Given the description of an element on the screen output the (x, y) to click on. 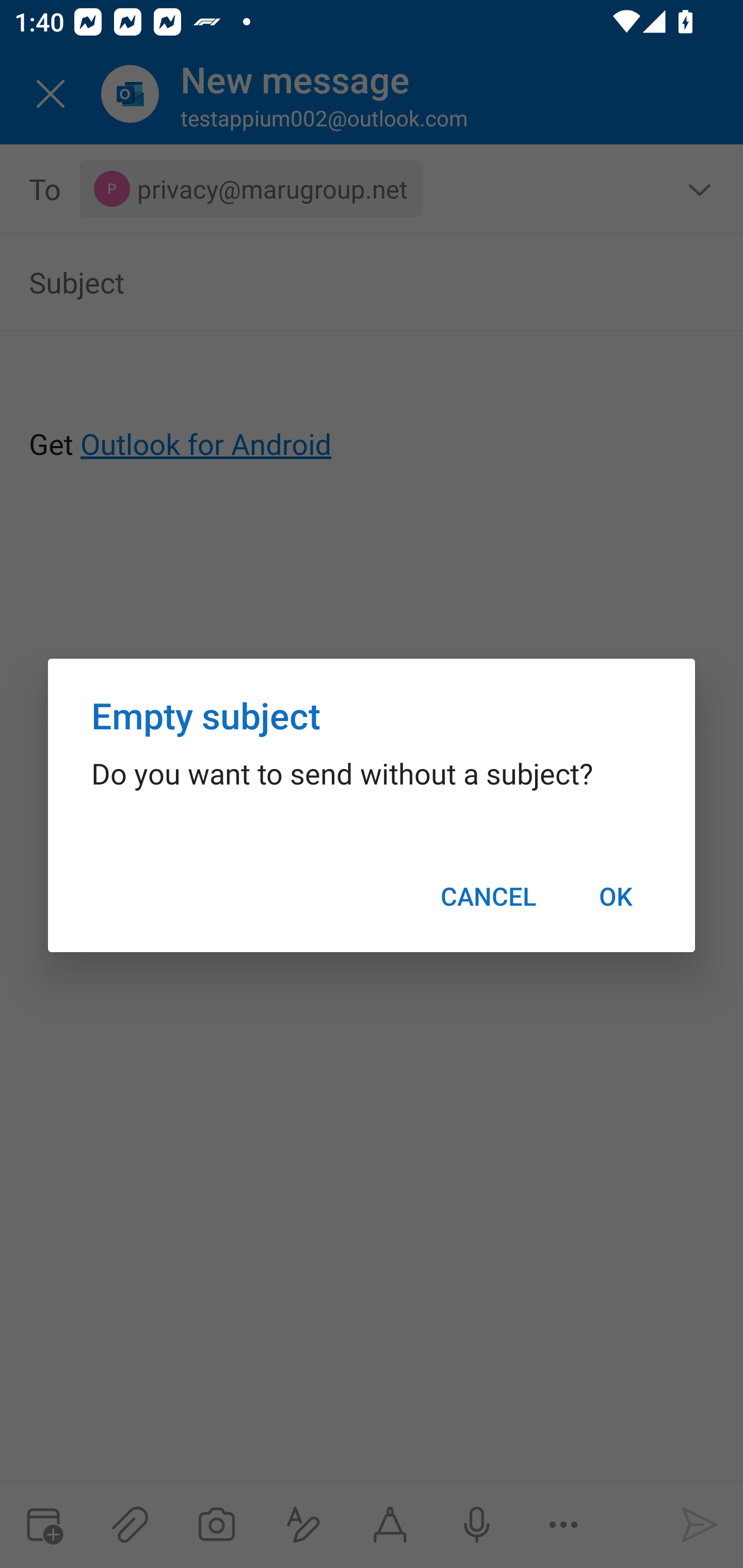
CANCEL (488, 895)
OK (615, 895)
